Given the description of an element on the screen output the (x, y) to click on. 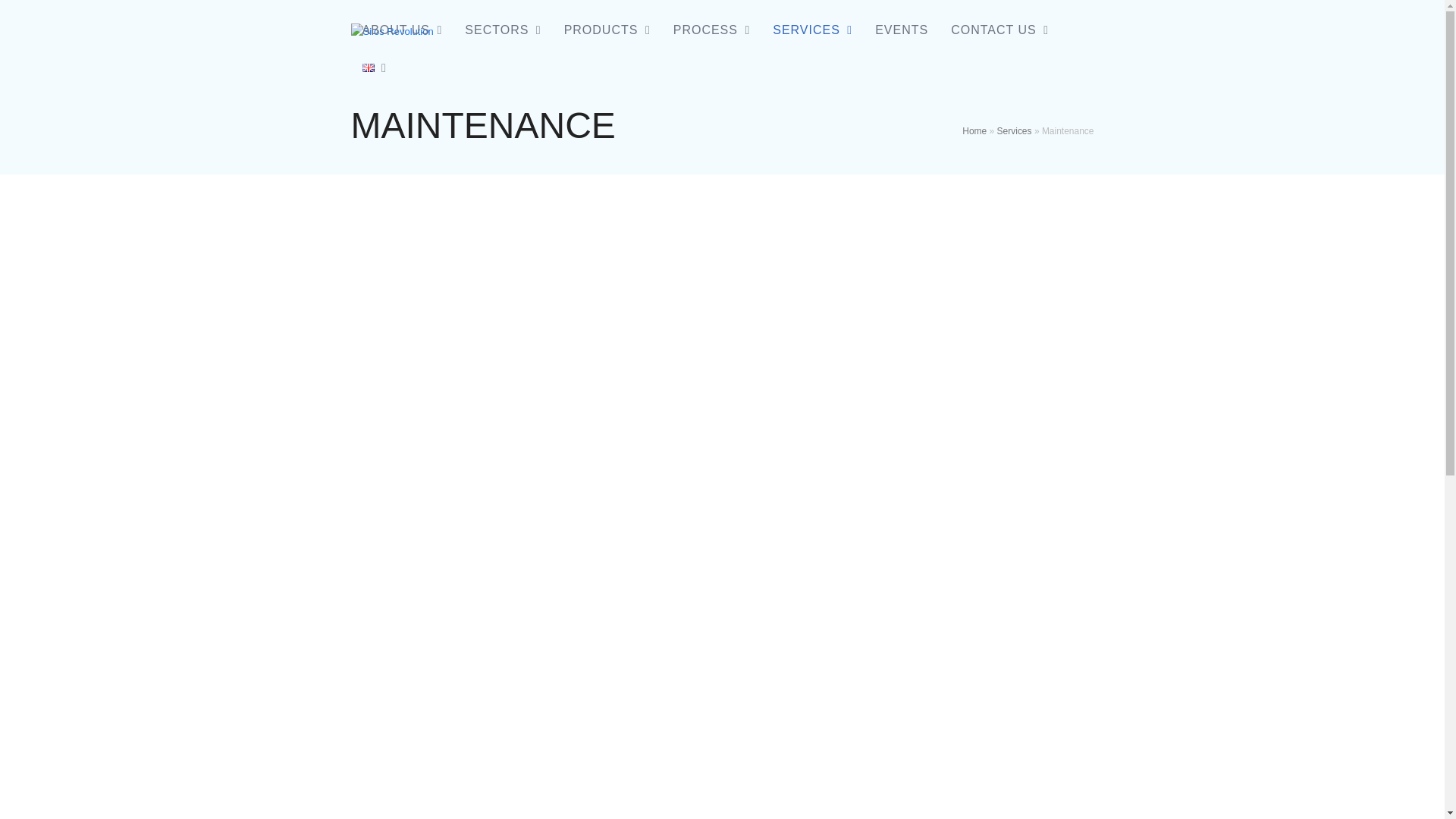
SECTORS (501, 30)
ABOUT US (401, 30)
PRODUCTS (607, 30)
PROCESS (711, 30)
